Given the description of an element on the screen output the (x, y) to click on. 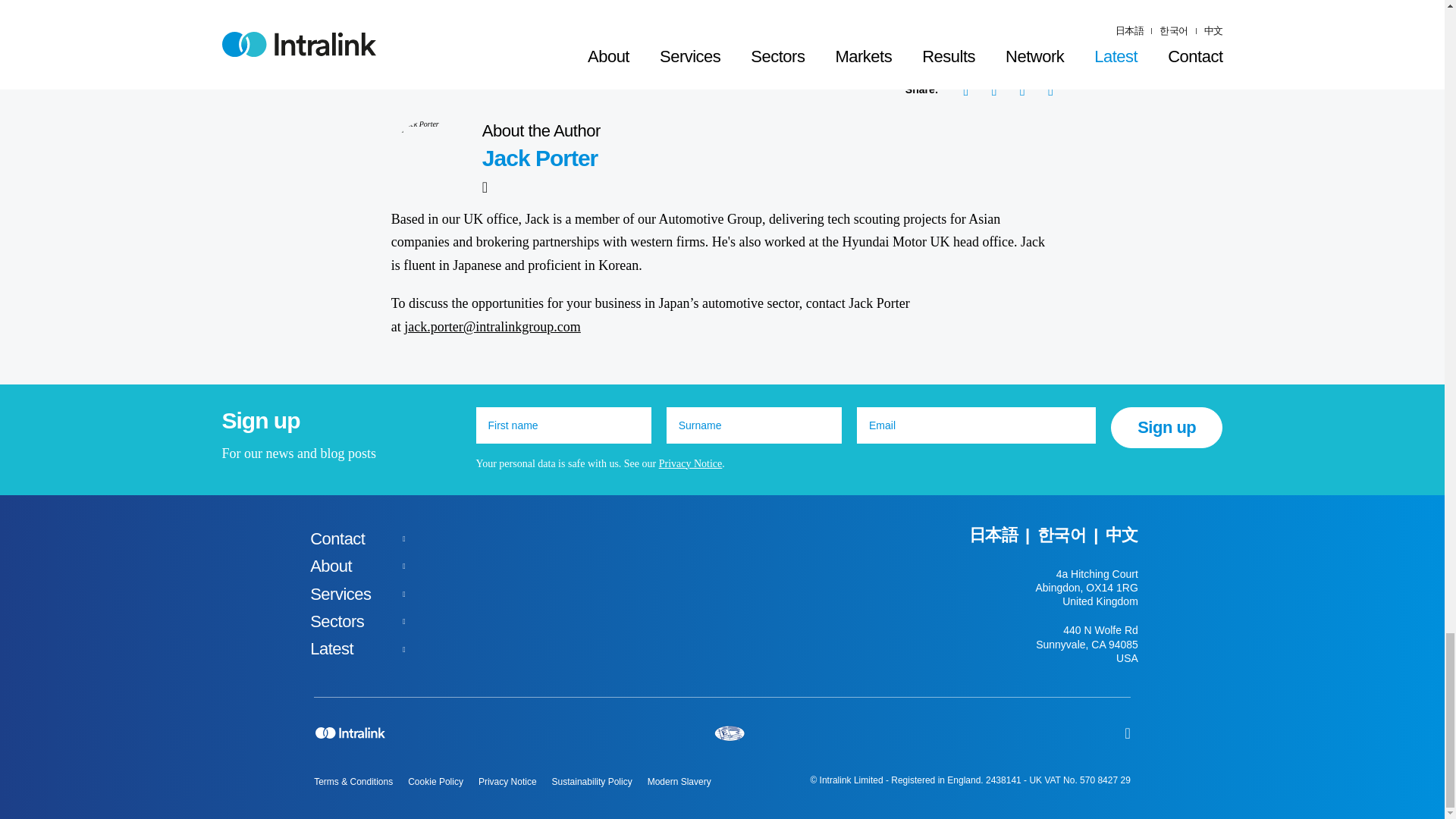
Sign up (1166, 427)
